Given the description of an element on the screen output the (x, y) to click on. 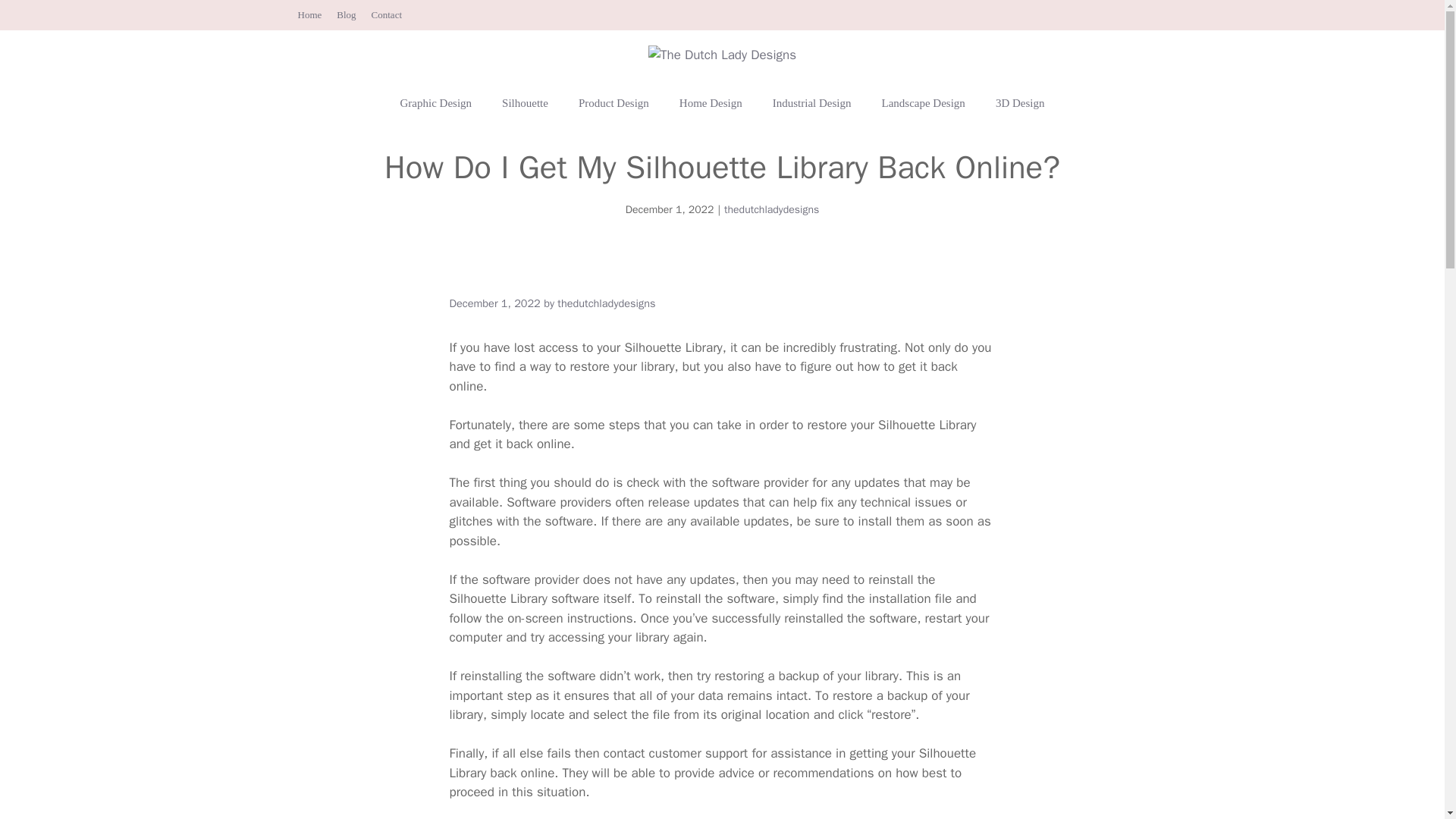
Industrial Design (811, 103)
3D Design (1019, 103)
Home Design (710, 103)
View all posts by thedutchladydesigns (606, 303)
Silhouette (524, 103)
Contact (386, 14)
Home (309, 14)
Product Design (613, 103)
Landscape Design (922, 103)
Blog (345, 14)
